Given the description of an element on the screen output the (x, y) to click on. 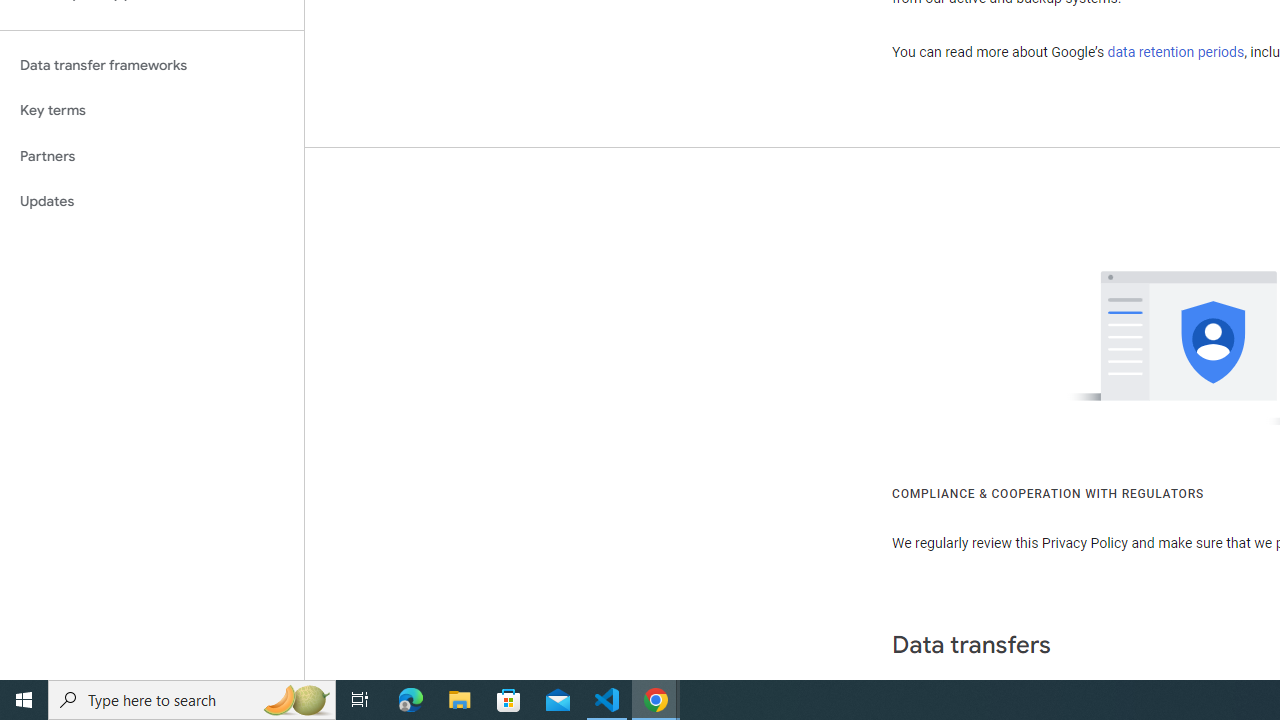
Search highlights icon opens search home window (295, 699)
